Given the description of an element on the screen output the (x, y) to click on. 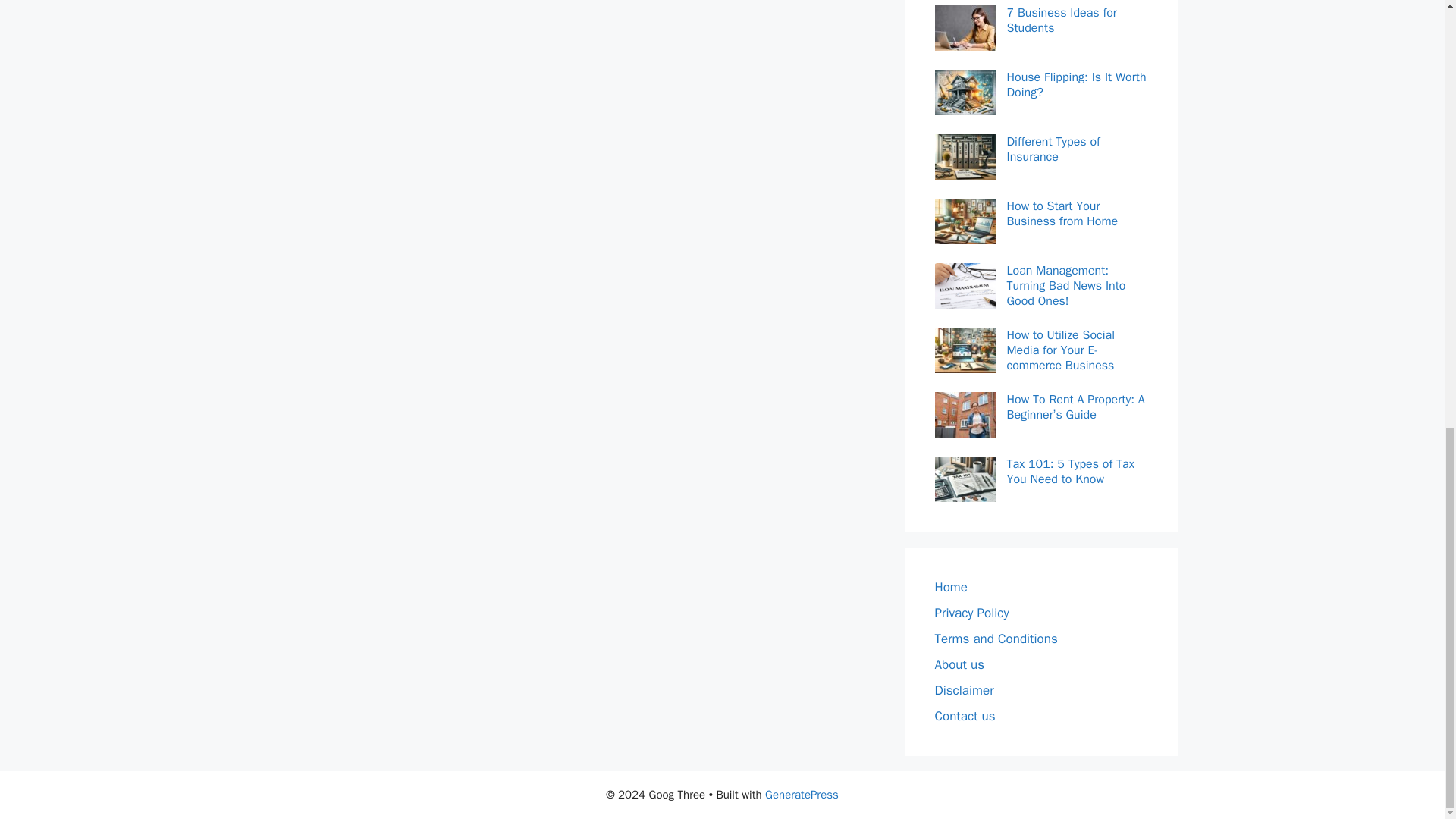
Tax 101: 5 Types of Tax You Need to Know (1077, 471)
Terms and Conditions (995, 638)
Home (950, 587)
How to Start Your Business from Home (1077, 214)
Different Types of Insurance (1077, 149)
Disclaimer (963, 690)
Loan Management: Turning Bad News Into Good Ones! (1077, 285)
About us (959, 664)
House Flipping: Is It Worth Doing? (1077, 84)
Privacy Policy (971, 612)
How to Utilize Social Media for Your E-commerce Business (1077, 350)
7 Business Ideas for Students  (1077, 20)
